Given the description of an element on the screen output the (x, y) to click on. 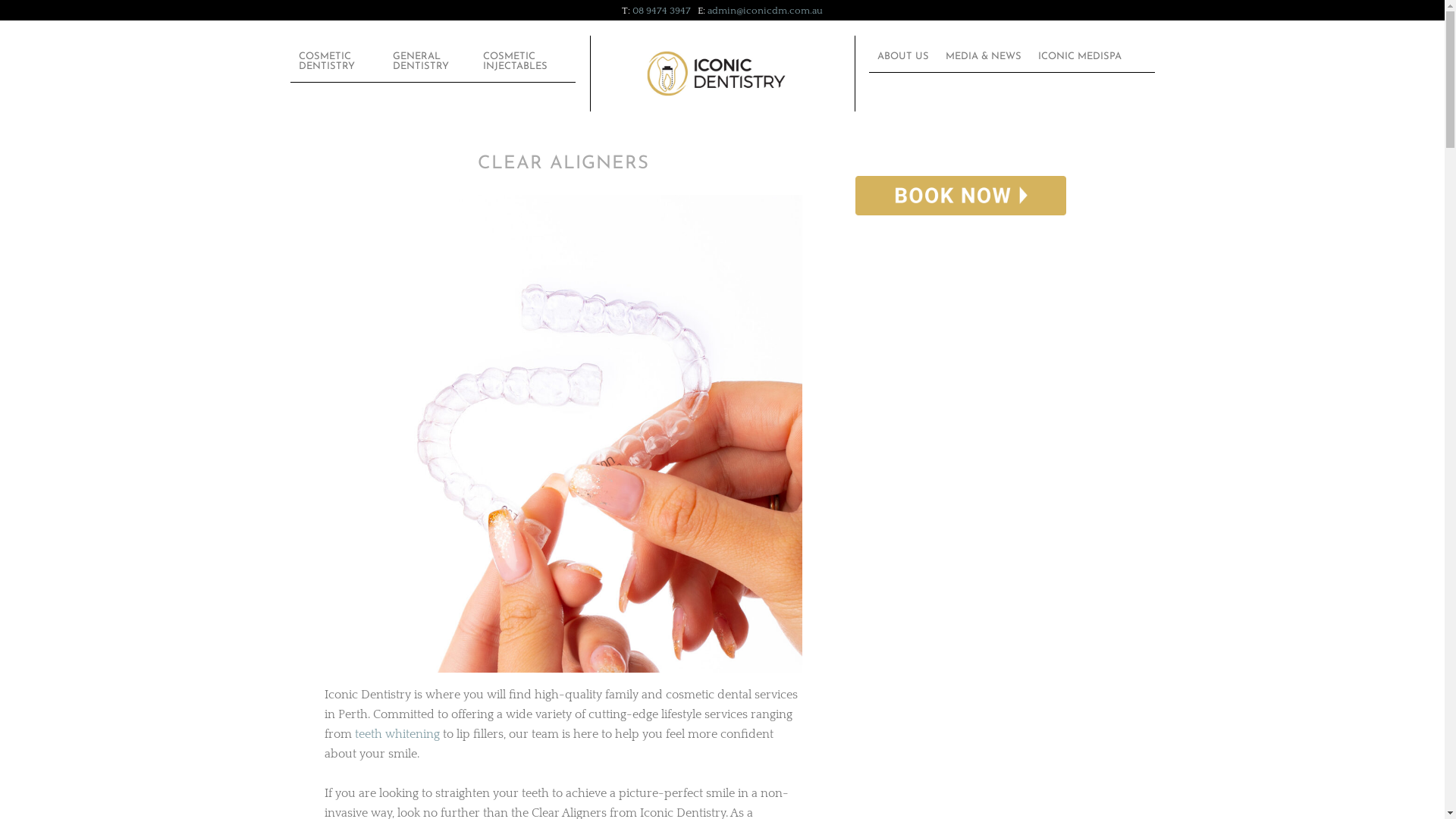
teeth whitening Element type: text (396, 733)
ABOUT US Element type: text (903, 55)
COSMETIC INJECTABLES Element type: text (524, 60)
COSMETIC DENTISTRY Element type: text (336, 60)
ICONIC DENTISTRY Element type: text (749, 73)
GENERAL DENTISTRY Element type: text (429, 60)
MEDIA & NEWS Element type: text (983, 55)
ICONIC MEDISPA Element type: text (1079, 55)
08 9474 3947 Element type: text (661, 10)
admin@iconicdm.com.au Element type: text (764, 10)
